Given the description of an element on the screen output the (x, y) to click on. 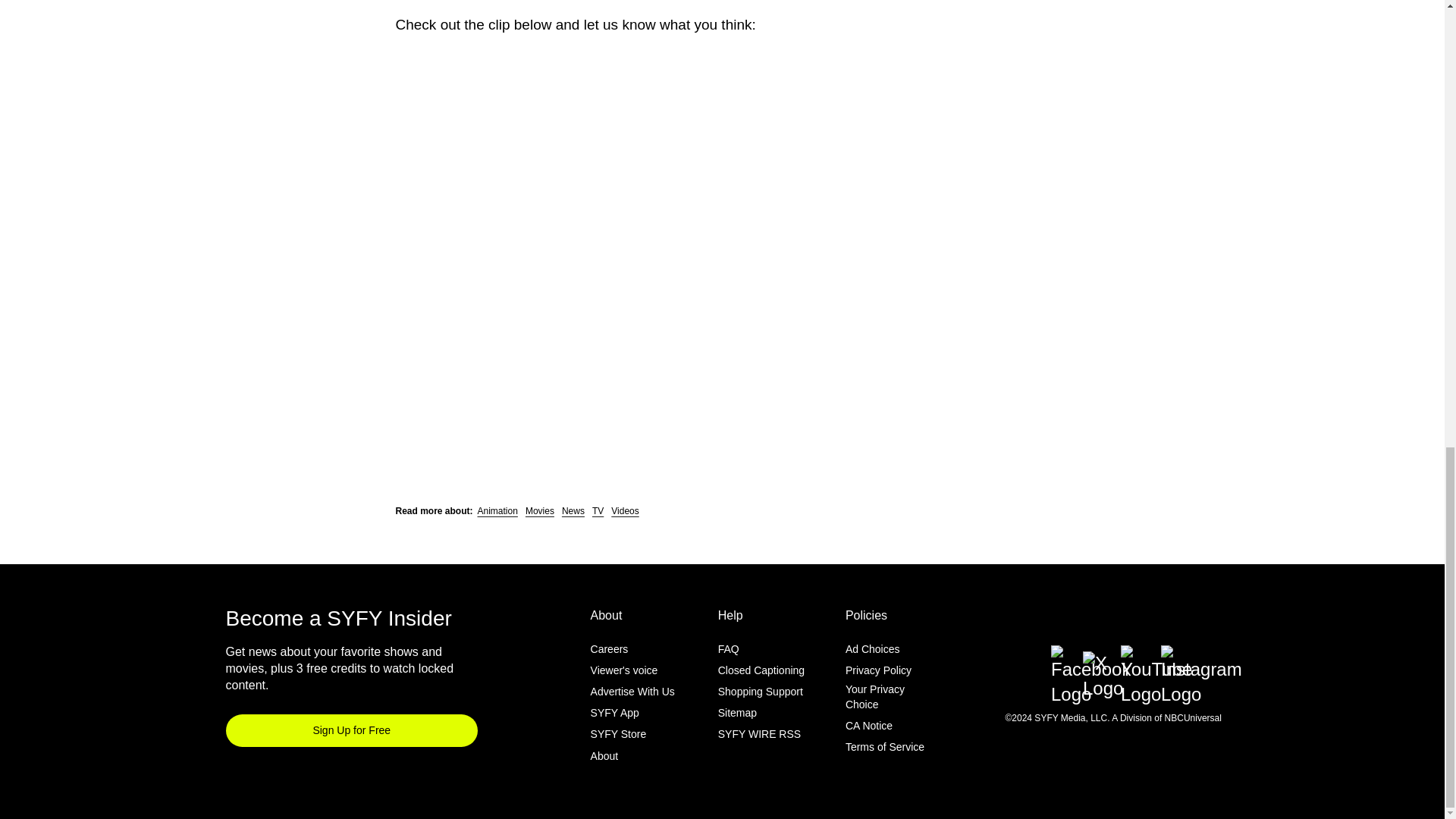
Animation (497, 511)
Advertise With Us (633, 691)
TV (598, 511)
Movies (539, 511)
News (573, 511)
Videos (625, 511)
